Given the description of an element on the screen output the (x, y) to click on. 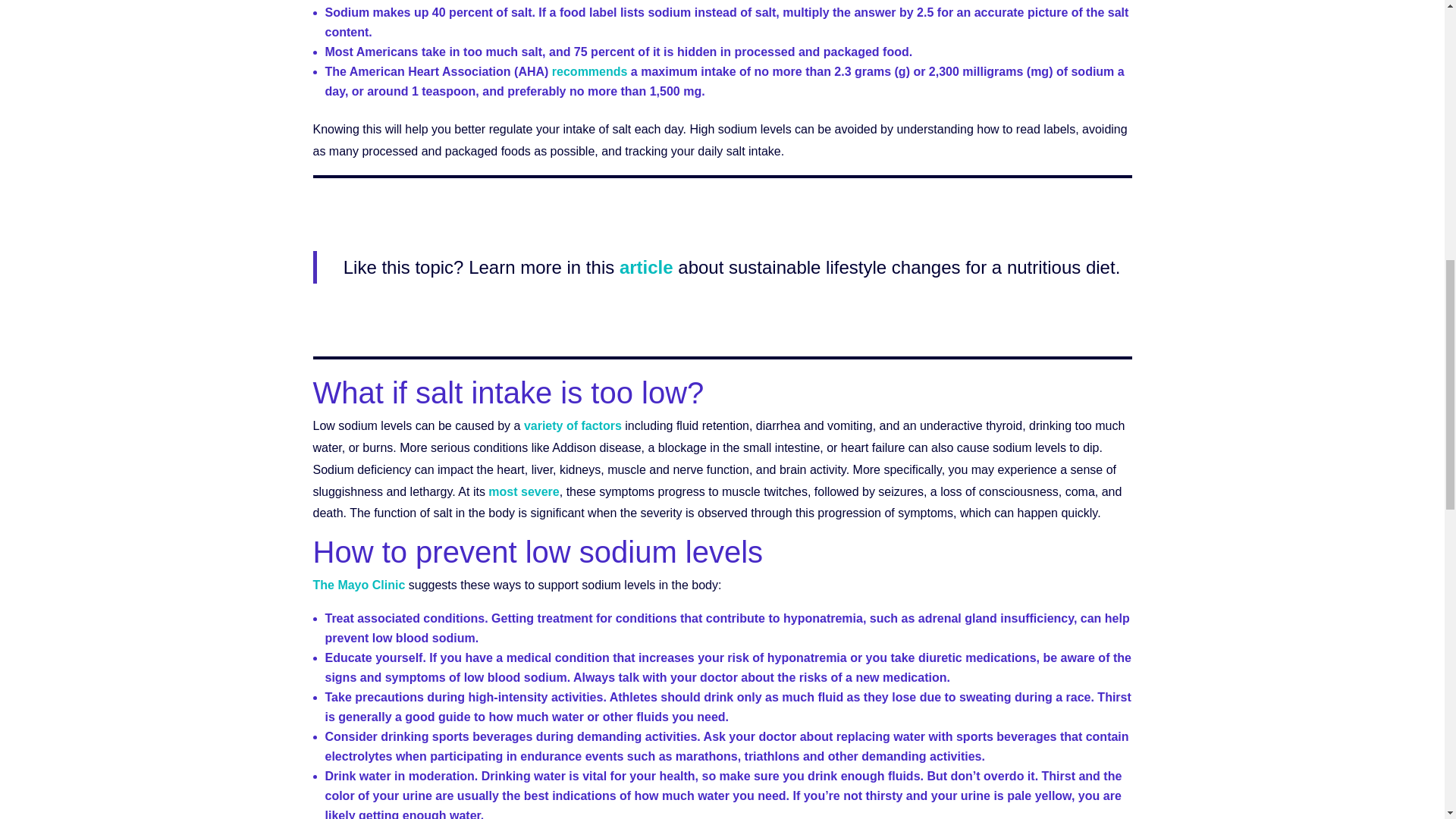
recommends (589, 71)
most severe (523, 491)
The Mayo Clinic (358, 584)
article (643, 267)
variety of factors (572, 425)
